Given the description of an element on the screen output the (x, y) to click on. 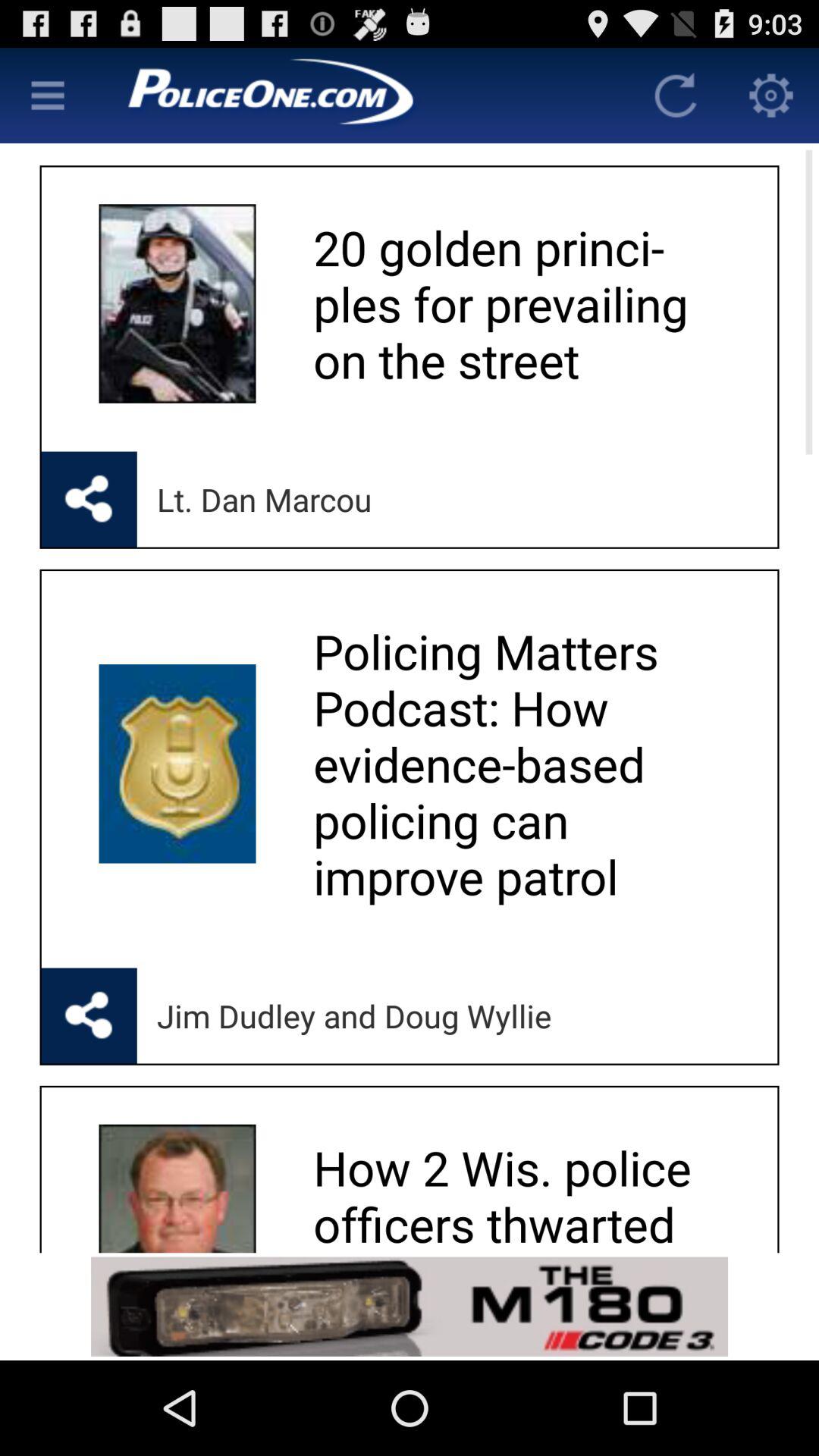
reload page (675, 95)
